Given the description of an element on the screen output the (x, y) to click on. 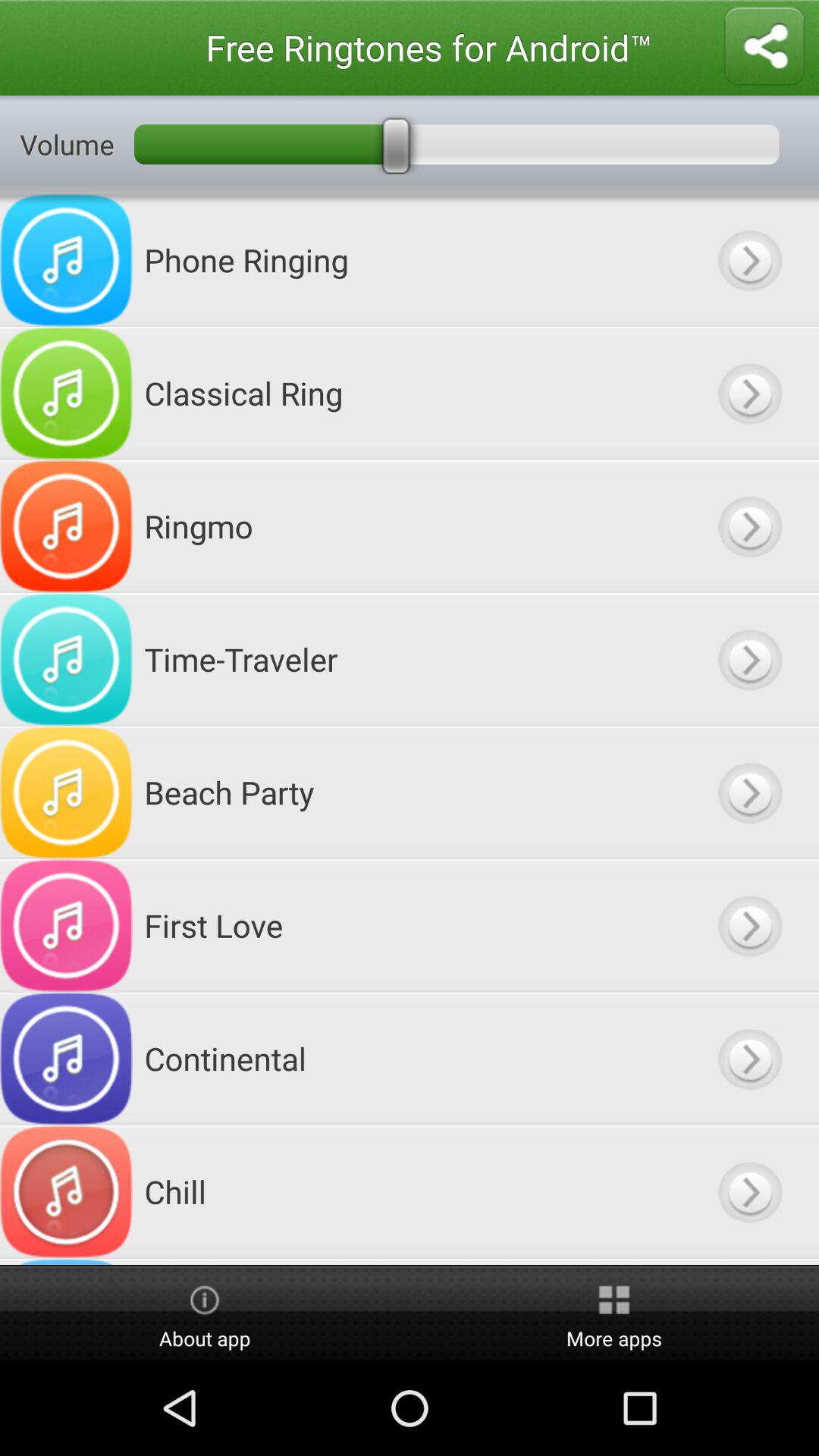
go to previous (749, 393)
